Given the description of an element on the screen output the (x, y) to click on. 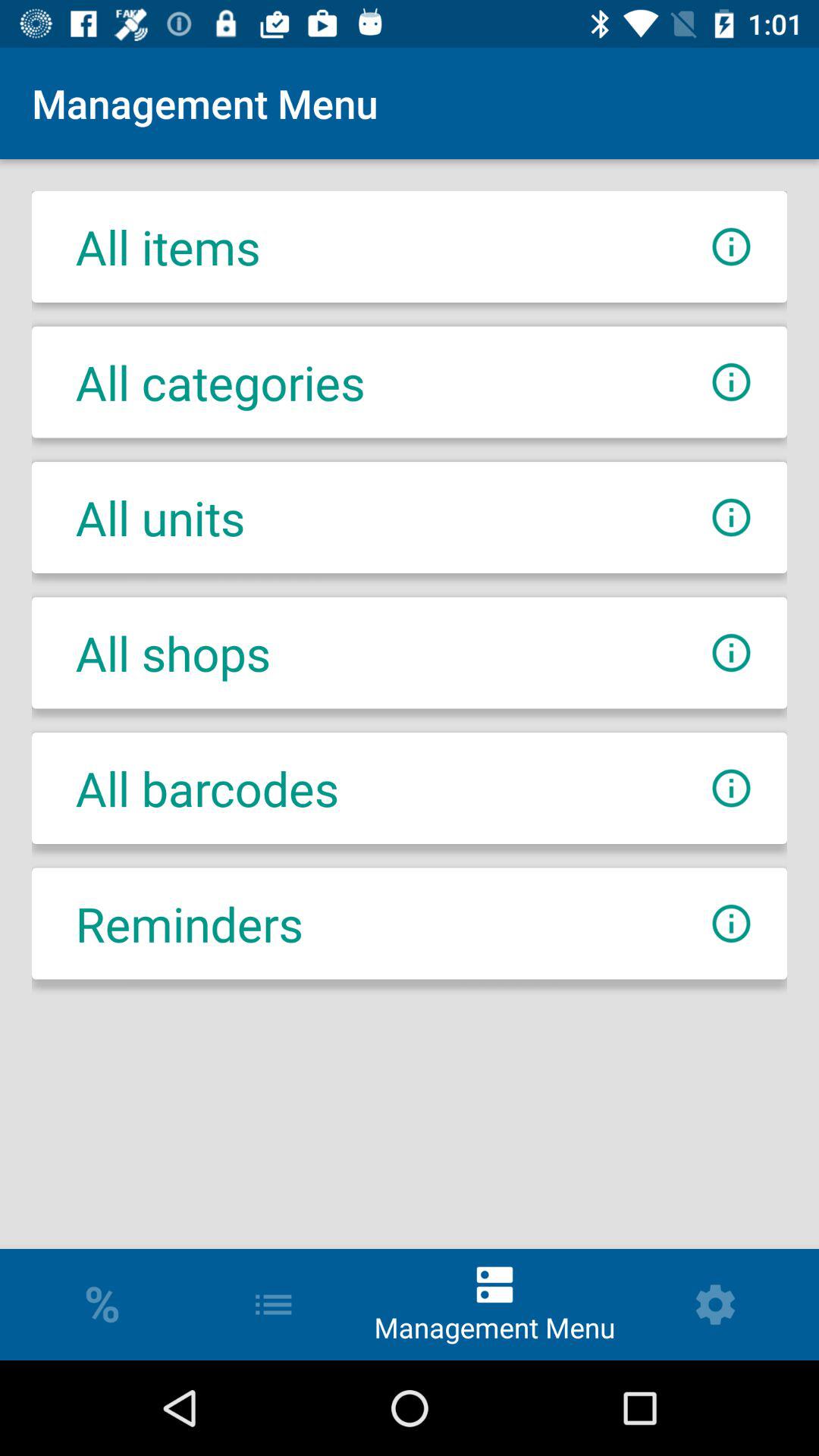
information about reminders (731, 923)
